Given the description of an element on the screen output the (x, y) to click on. 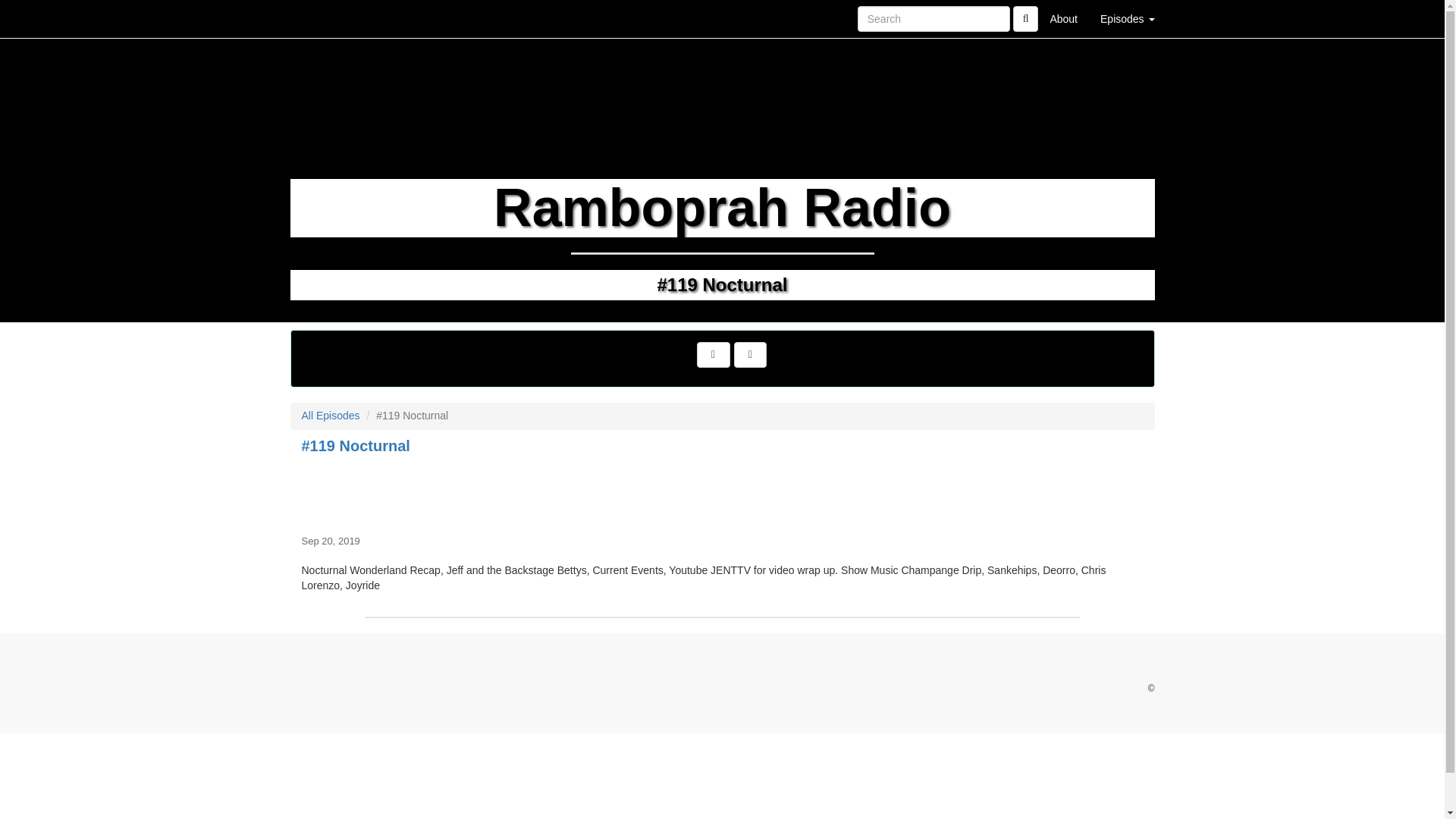
Episodes (1127, 18)
Home Page (320, 18)
About (1063, 18)
